Given the description of an element on the screen output the (x, y) to click on. 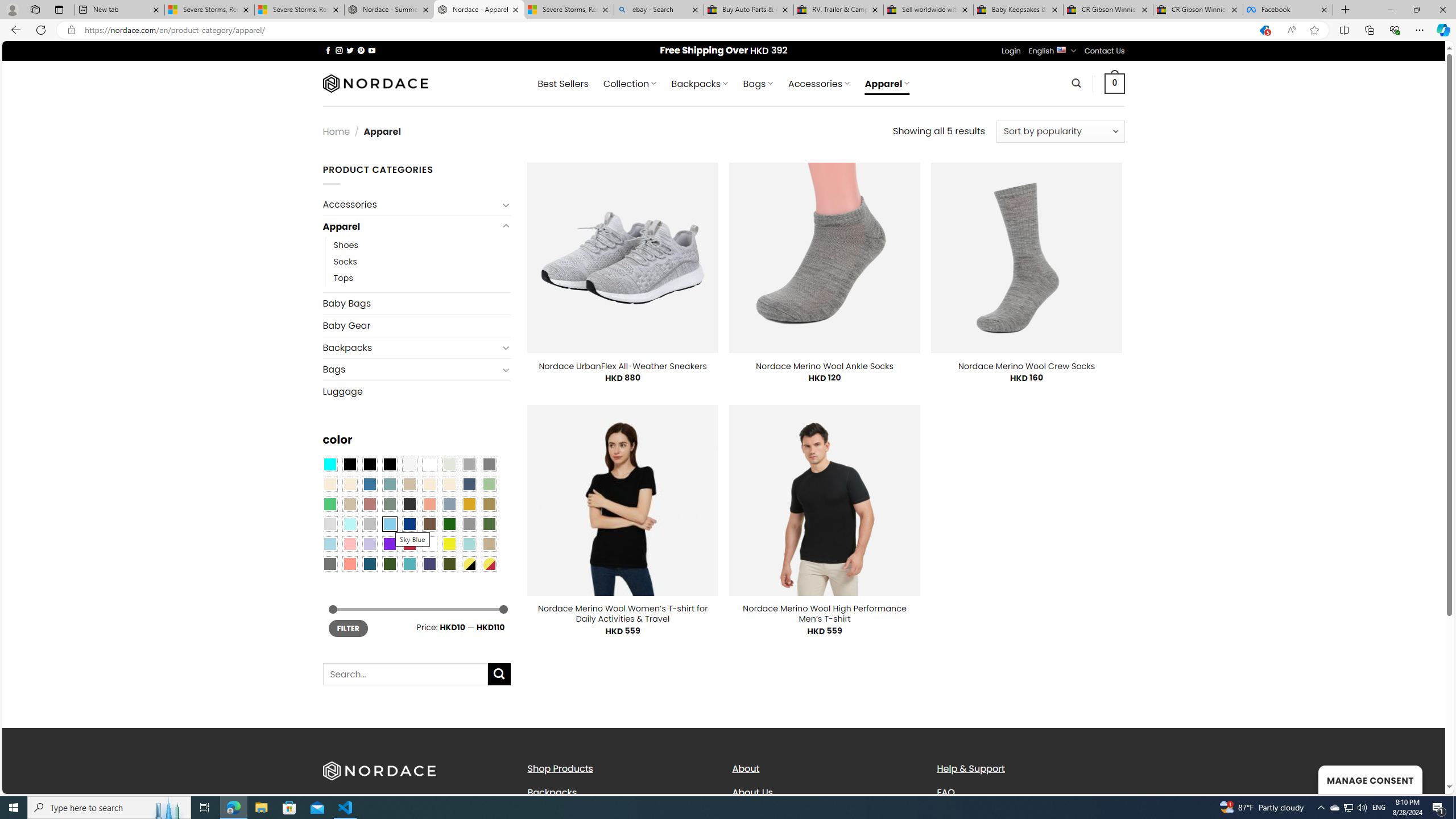
About Us (826, 792)
Dusty Blue (449, 503)
Black (369, 464)
FAQ (1030, 792)
Dull Nickle (329, 563)
Beige (329, 483)
Blue (369, 483)
English (1061, 49)
